Given the description of an element on the screen output the (x, y) to click on. 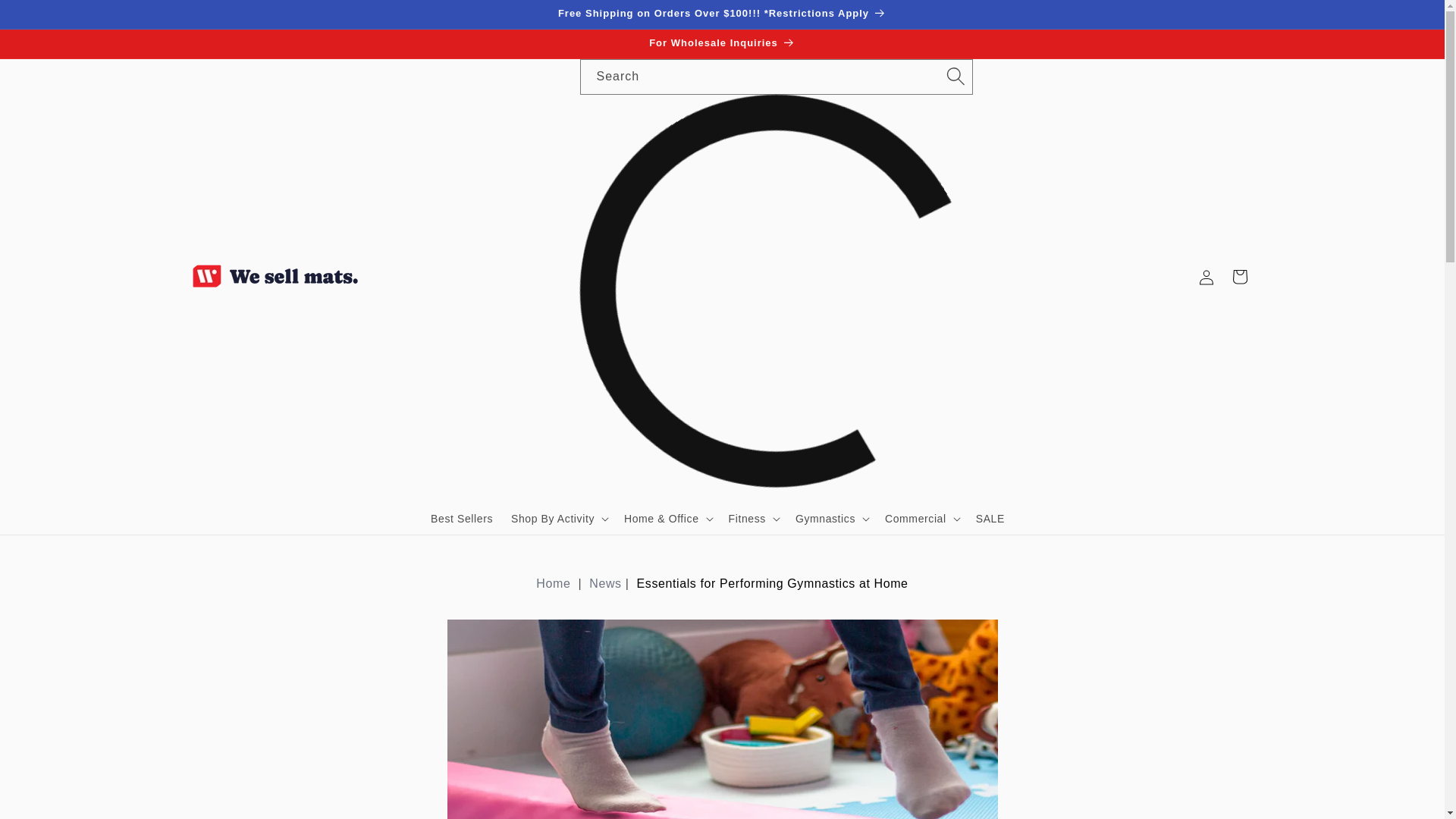
For Wholesale Inquiries (721, 43)
Home (552, 583)
SKIP TO CONTENT (45, 17)
